Given the description of an element on the screen output the (x, y) to click on. 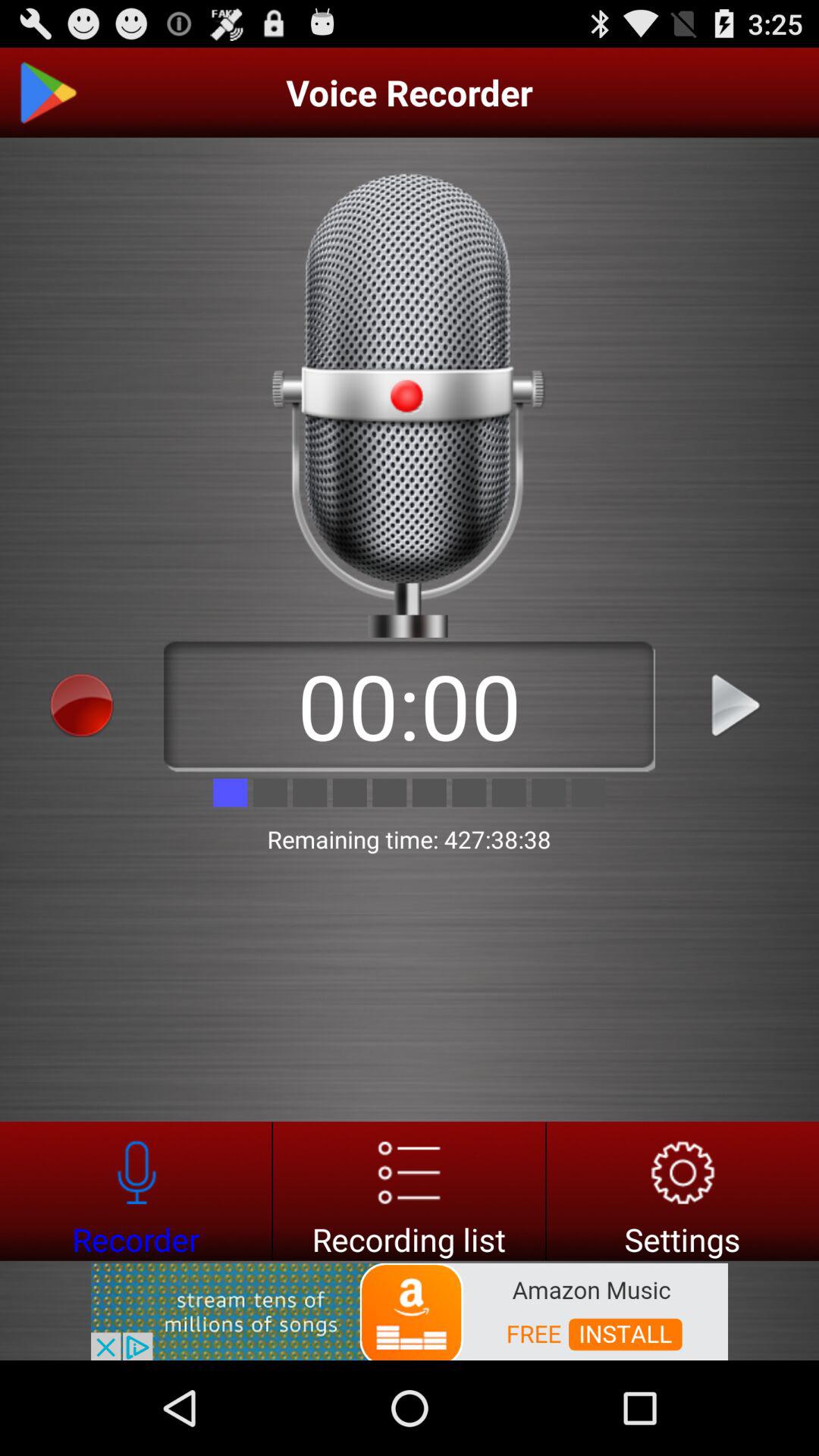
recorder (135, 1190)
